Given the description of an element on the screen output the (x, y) to click on. 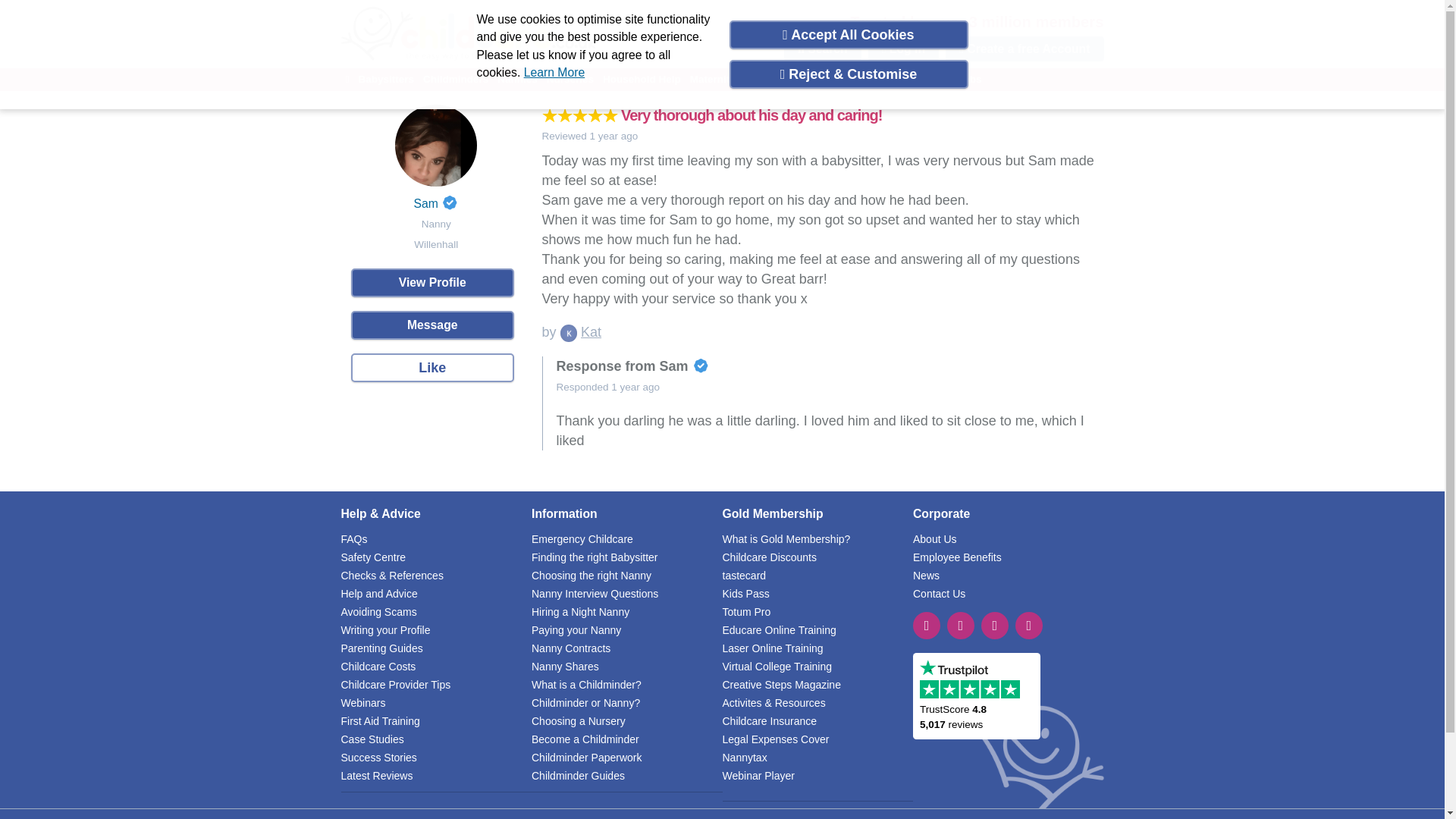
Safety Centre (373, 556)
Create a free Account (1023, 48)
View our full Privacy and Cookies Policy (554, 72)
Like (431, 367)
Maternity Nurses (731, 79)
Log in (903, 48)
Kat (590, 331)
Log in (903, 48)
Employee Benefits (956, 556)
Success Stories (378, 756)
